Given the description of an element on the screen output the (x, y) to click on. 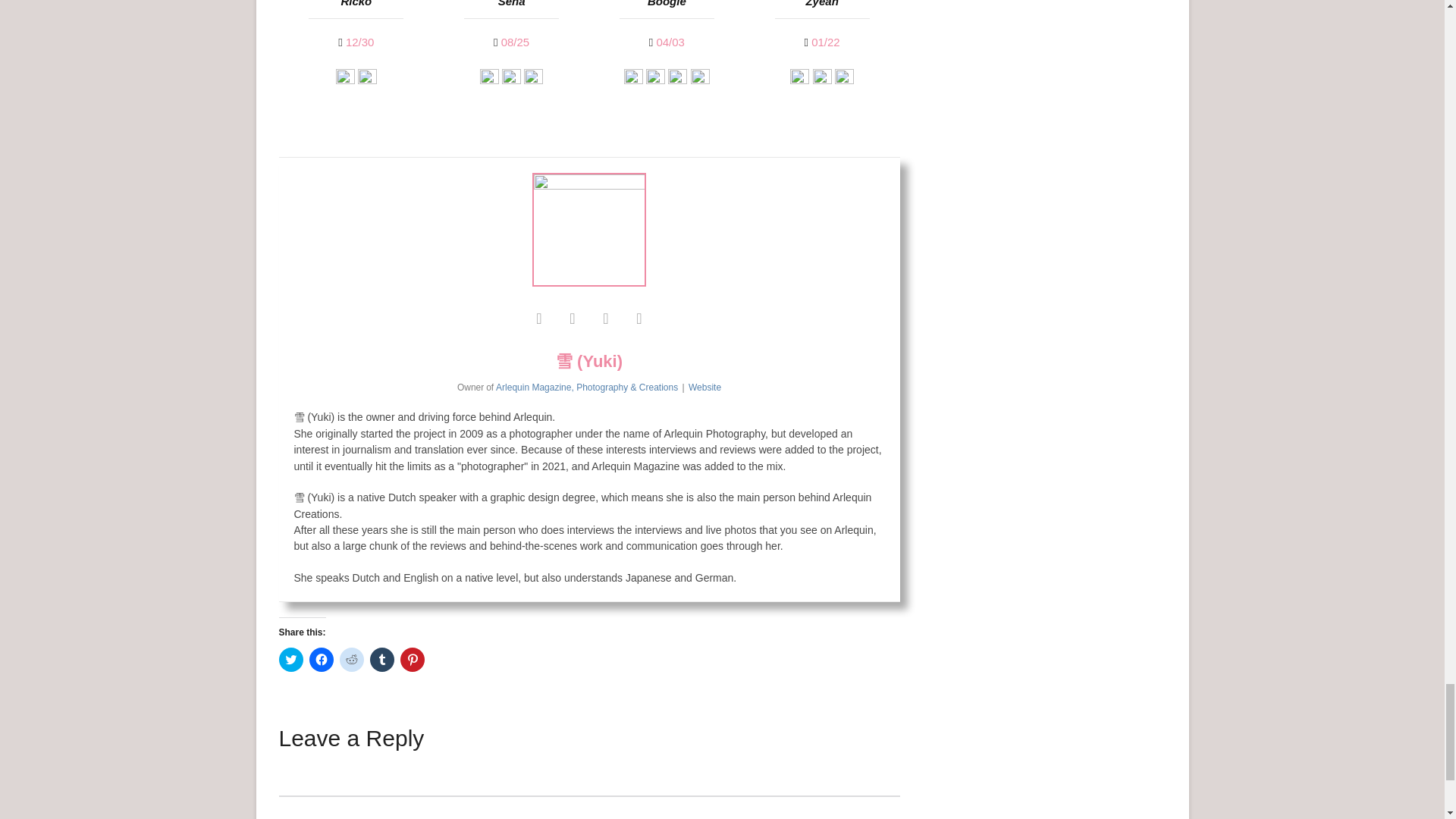
Click to share on Twitter (290, 659)
Click to share on Reddit (351, 659)
Click to share on Pinterest (412, 659)
Click to share on Facebook (320, 659)
Click to share on Tumblr (381, 659)
